Given the description of an element on the screen output the (x, y) to click on. 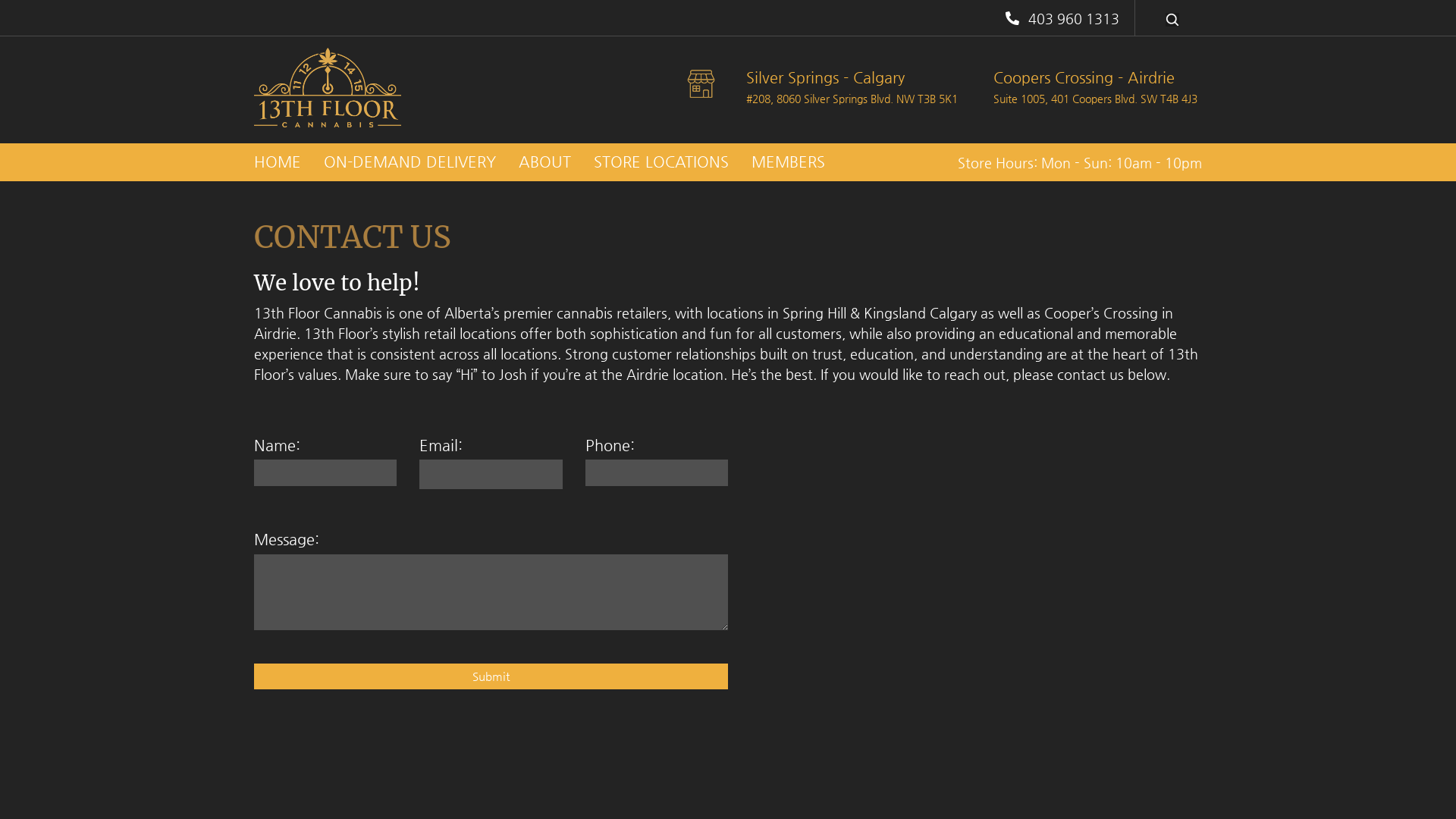
MEMBERS Element type: text (788, 161)
ON-DEMAND DELIVERY Element type: text (409, 161)
Submit Element type: text (491, 676)
ABOUT Element type: text (544, 161)
STORE LOCATIONS Element type: text (660, 161)
403 960 1313 Element type: text (1059, 18)
HOME Element type: text (277, 161)
